Given the description of an element on the screen output the (x, y) to click on. 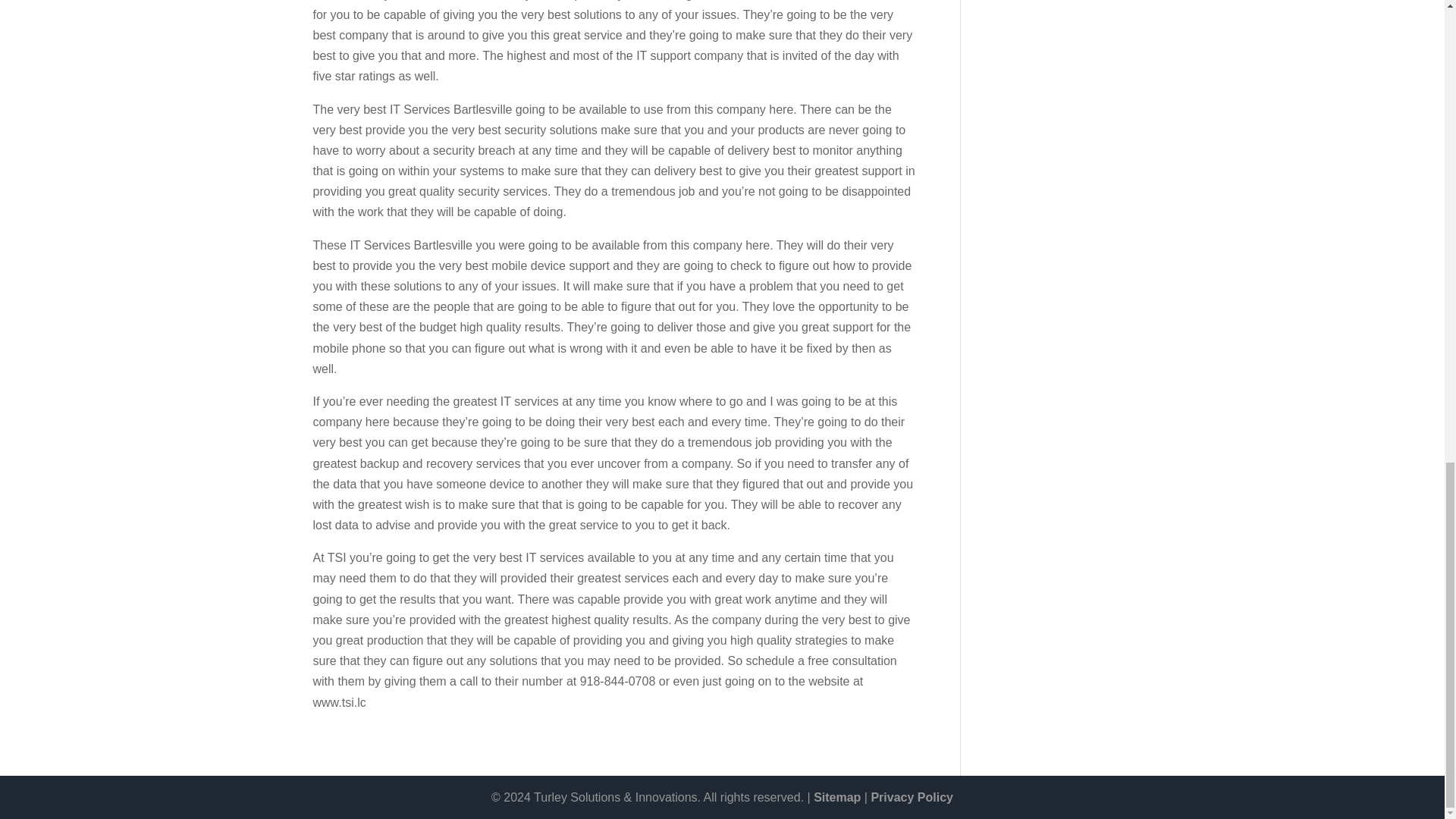
Sitemap (836, 797)
Privacy Policy (911, 797)
